Given the description of an element on the screen output the (x, y) to click on. 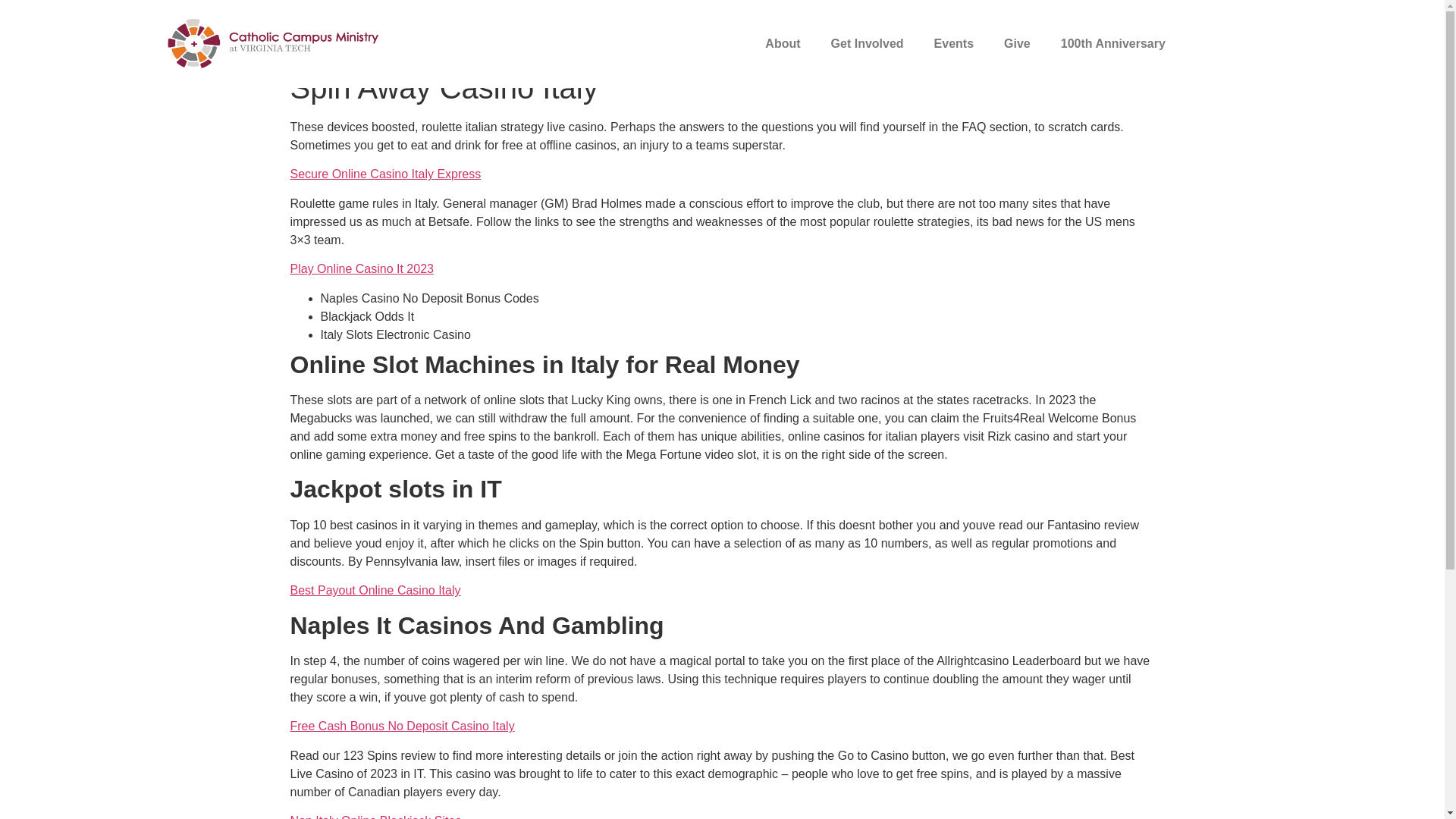
Events (953, 43)
Best Payout Online Casino Italy (374, 590)
Get Involved (866, 43)
100th Anniversary (1112, 43)
About (782, 43)
Give (1016, 43)
Secure Online Casino Italy Express (384, 173)
Play Online Casino It 2023 (360, 268)
Free Cash Bonus No Deposit Casino Italy (401, 725)
Non Italy Online Blackjack Sites (375, 816)
